Given the description of an element on the screen output the (x, y) to click on. 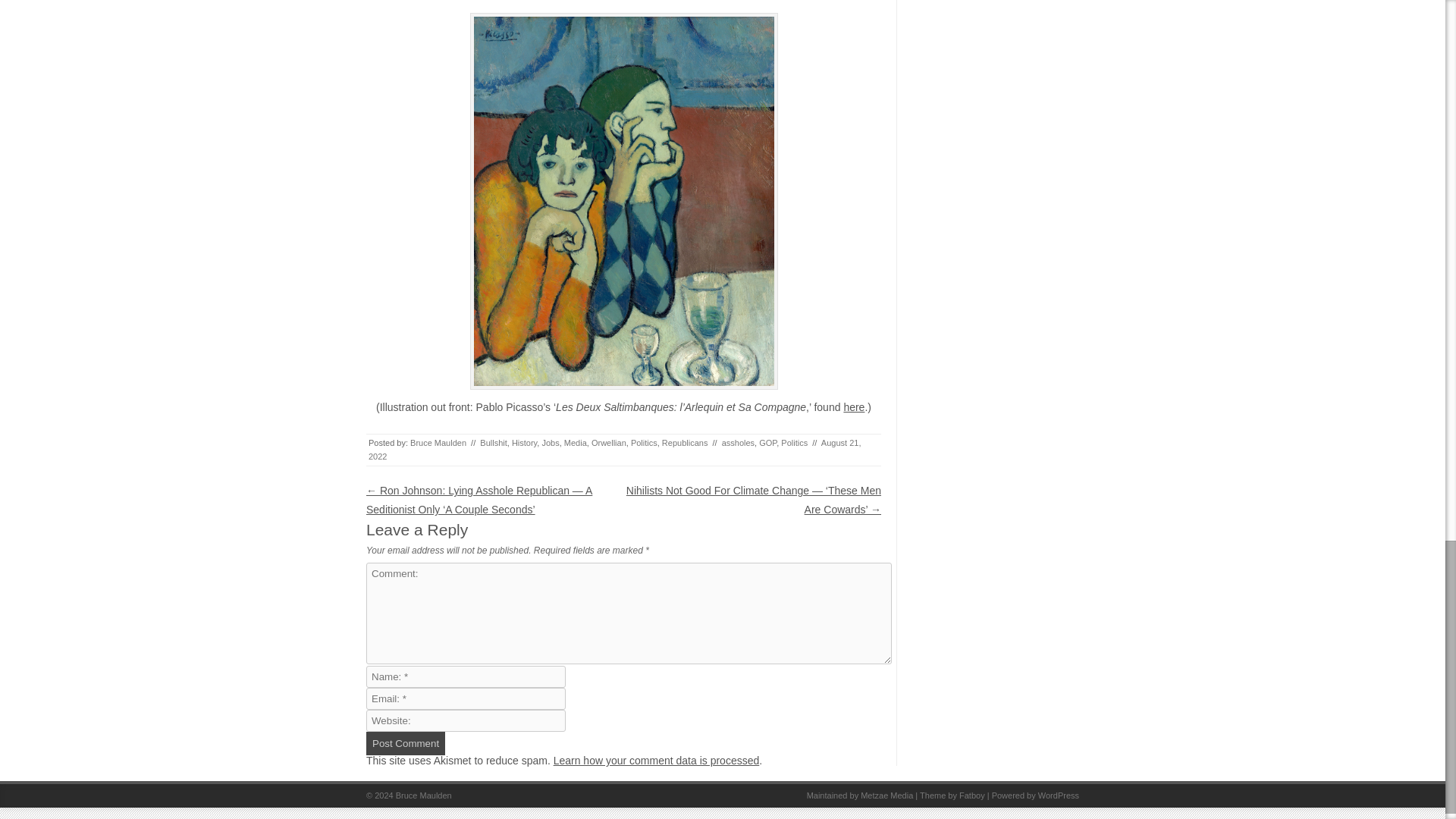
WordPress (1058, 795)
Post Comment (405, 743)
Orwellian (608, 442)
here (853, 407)
Politics (644, 442)
August 21, 2022 (614, 449)
Post Comment (405, 743)
Learn how your comment data is processed (656, 760)
Republicans (684, 442)
assholes (738, 442)
